Given the description of an element on the screen output the (x, y) to click on. 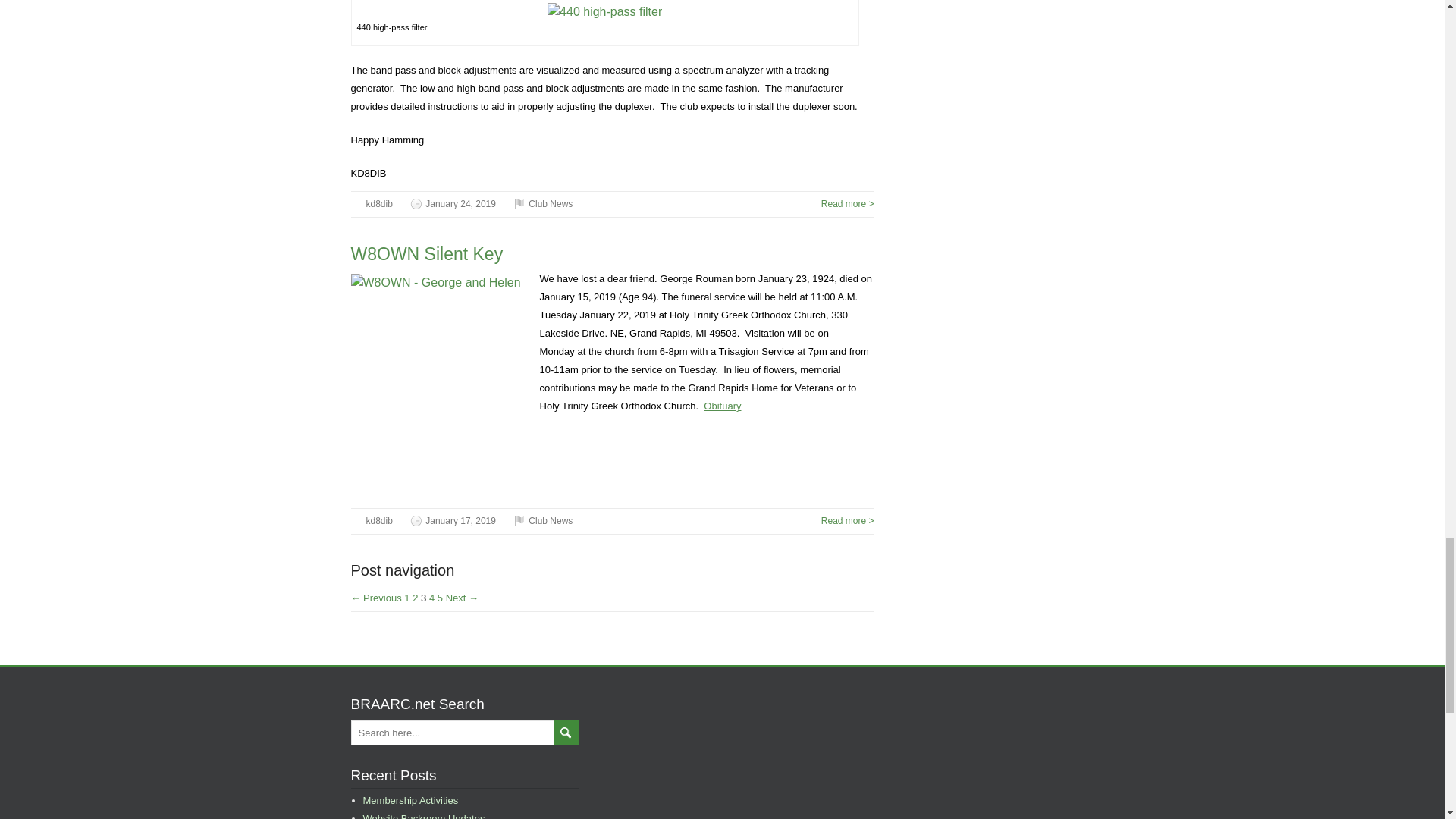
Posts by kd8dib (378, 204)
Posts by kd8dib (378, 520)
